Given the description of an element on the screen output the (x, y) to click on. 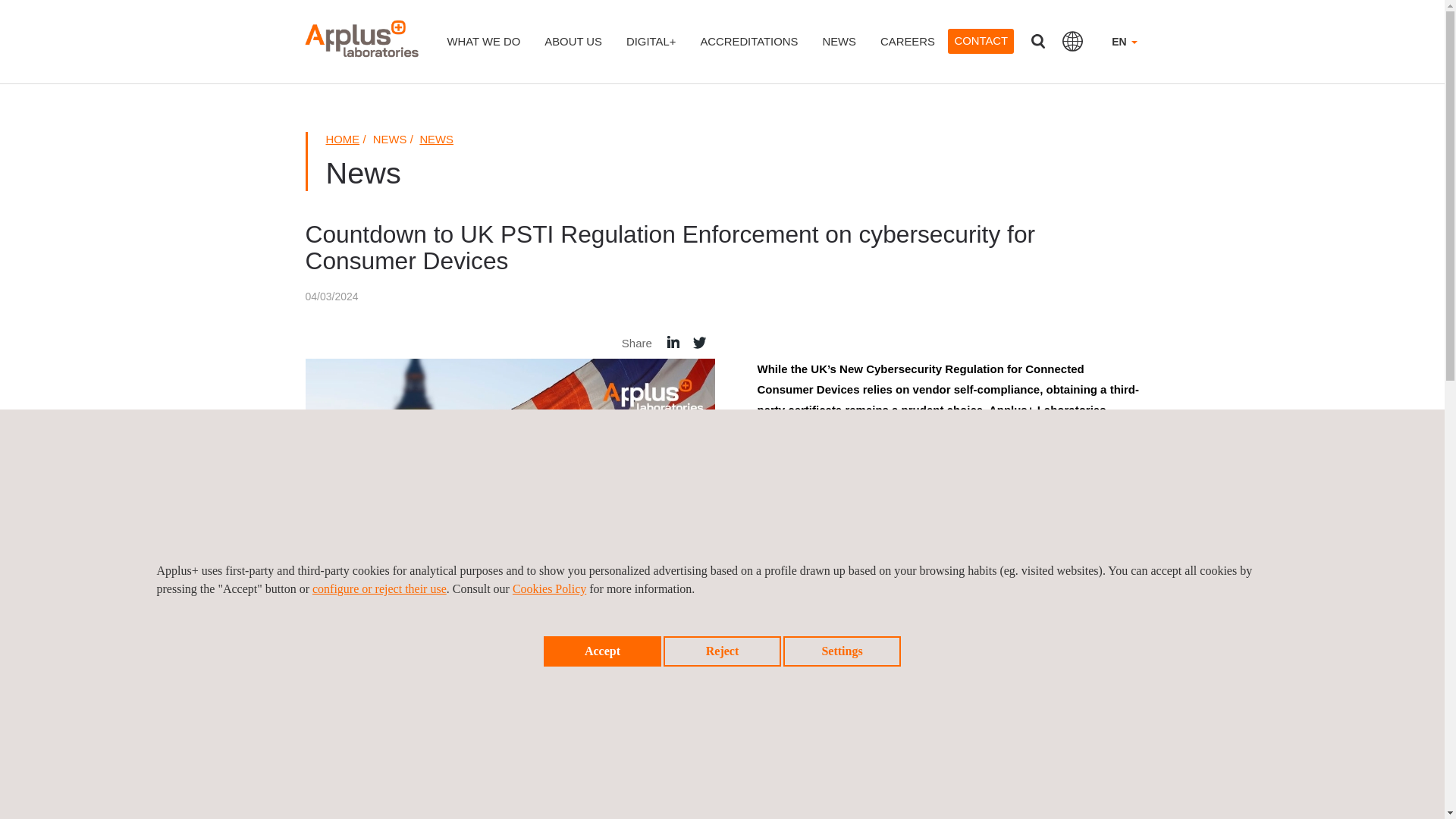
WHAT WE DO (482, 51)
EN (1123, 51)
Countries (1071, 40)
